Given the description of an element on the screen output the (x, y) to click on. 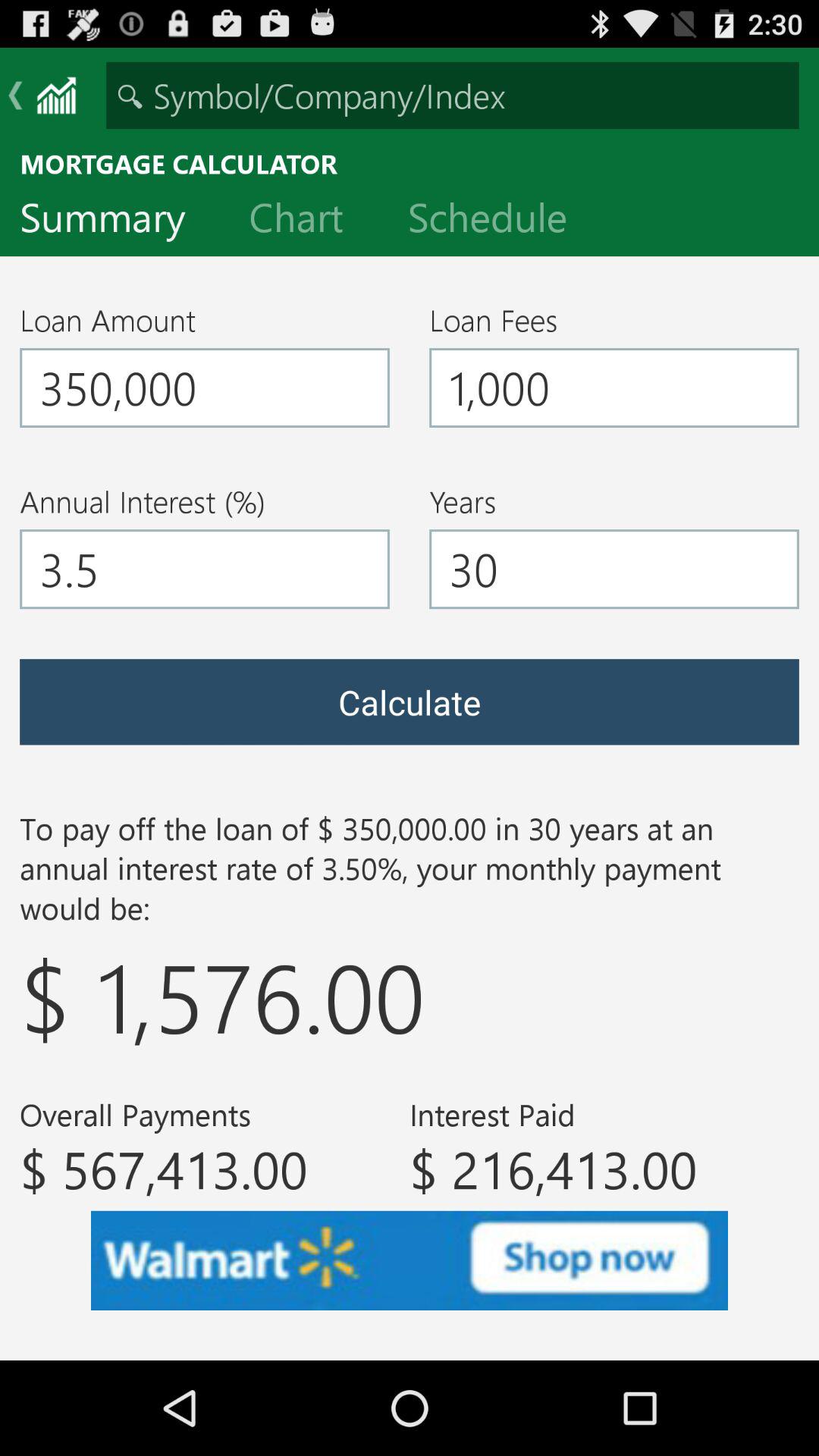
press the summary item (114, 220)
